Given the description of an element on the screen output the (x, y) to click on. 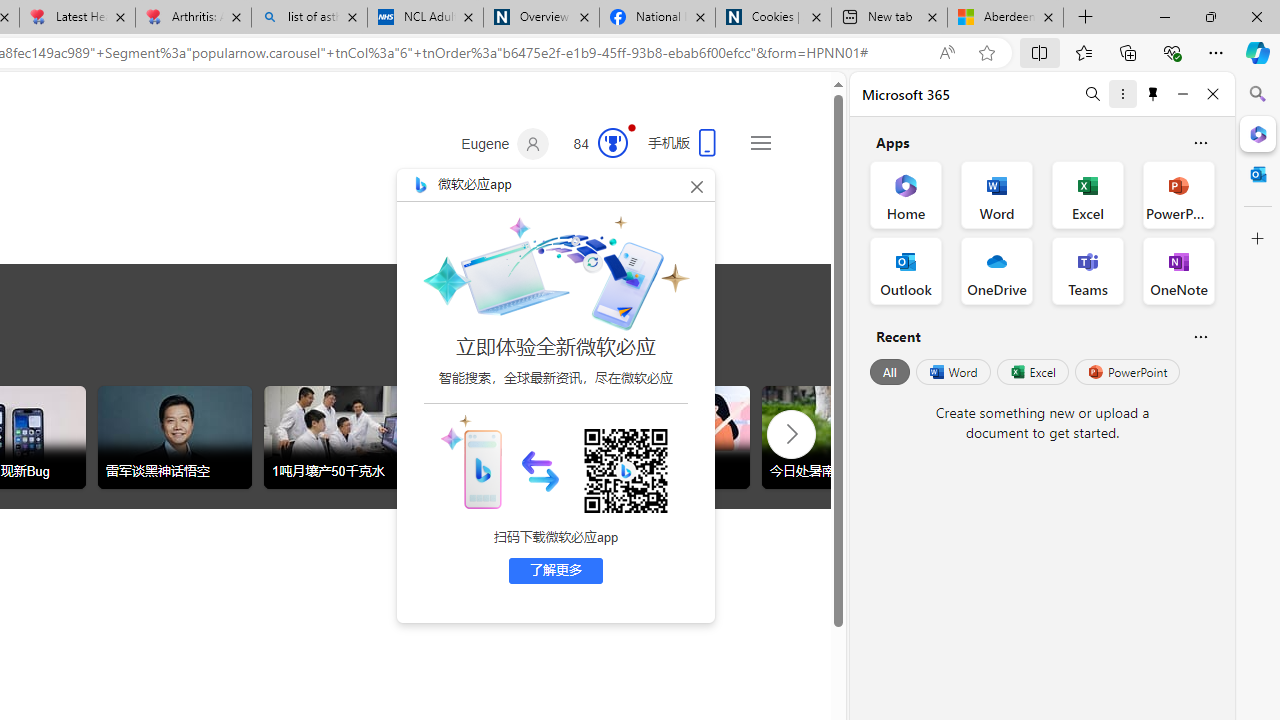
Excel (1031, 372)
Teams Office App (1087, 270)
Class: rms_img (470, 461)
Cookies | About | NICE (772, 17)
AutomationID: rh_meter (612, 142)
